Given the description of an element on the screen output the (x, y) to click on. 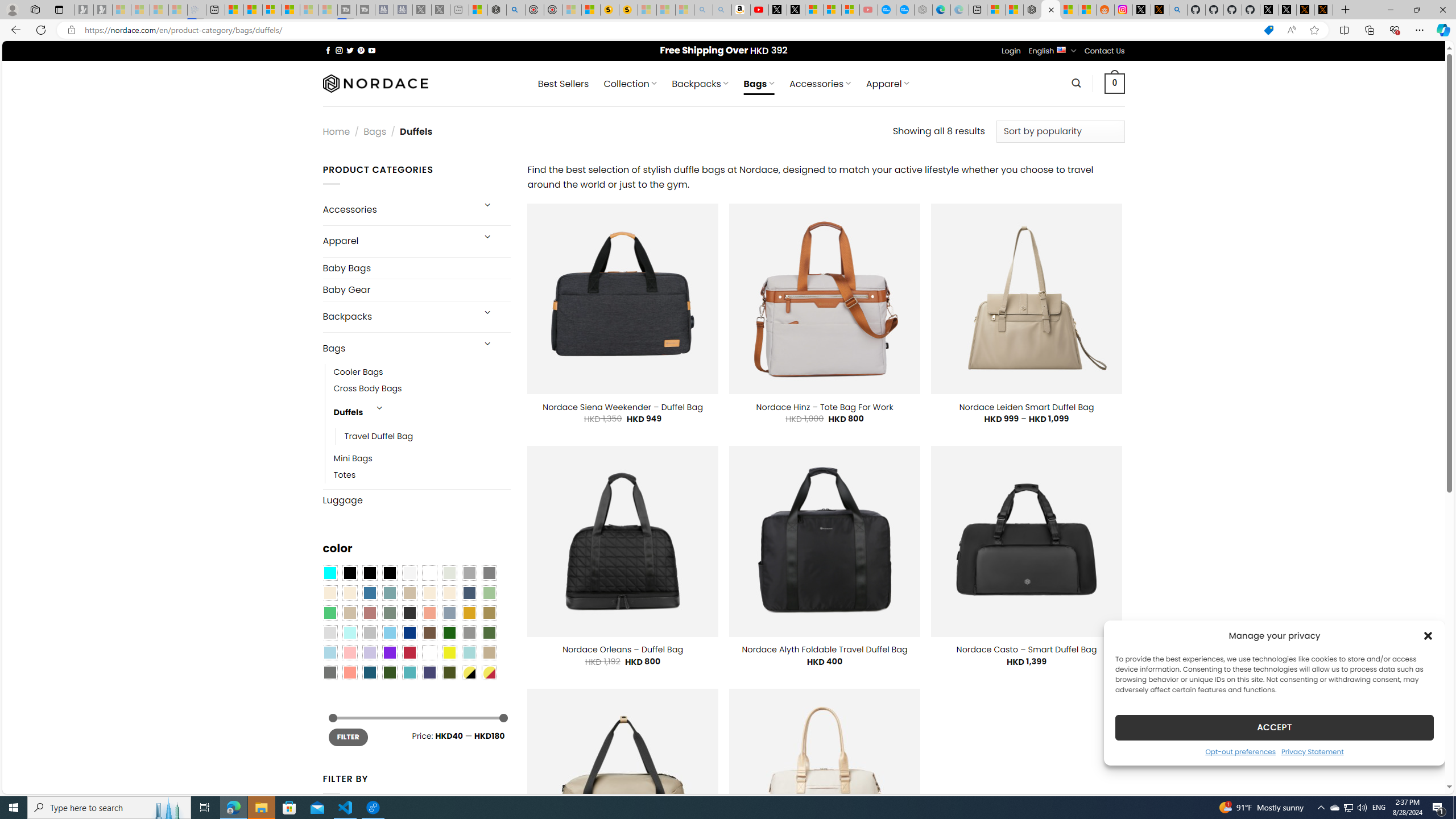
Baby Bags (416, 268)
Blue (369, 592)
Beige-Brown (349, 592)
Light Purple (369, 652)
Mini Bags (422, 458)
Rose (369, 613)
Mint (349, 632)
Peach Pink (349, 672)
  Best Sellers (563, 83)
